Given the description of an element on the screen output the (x, y) to click on. 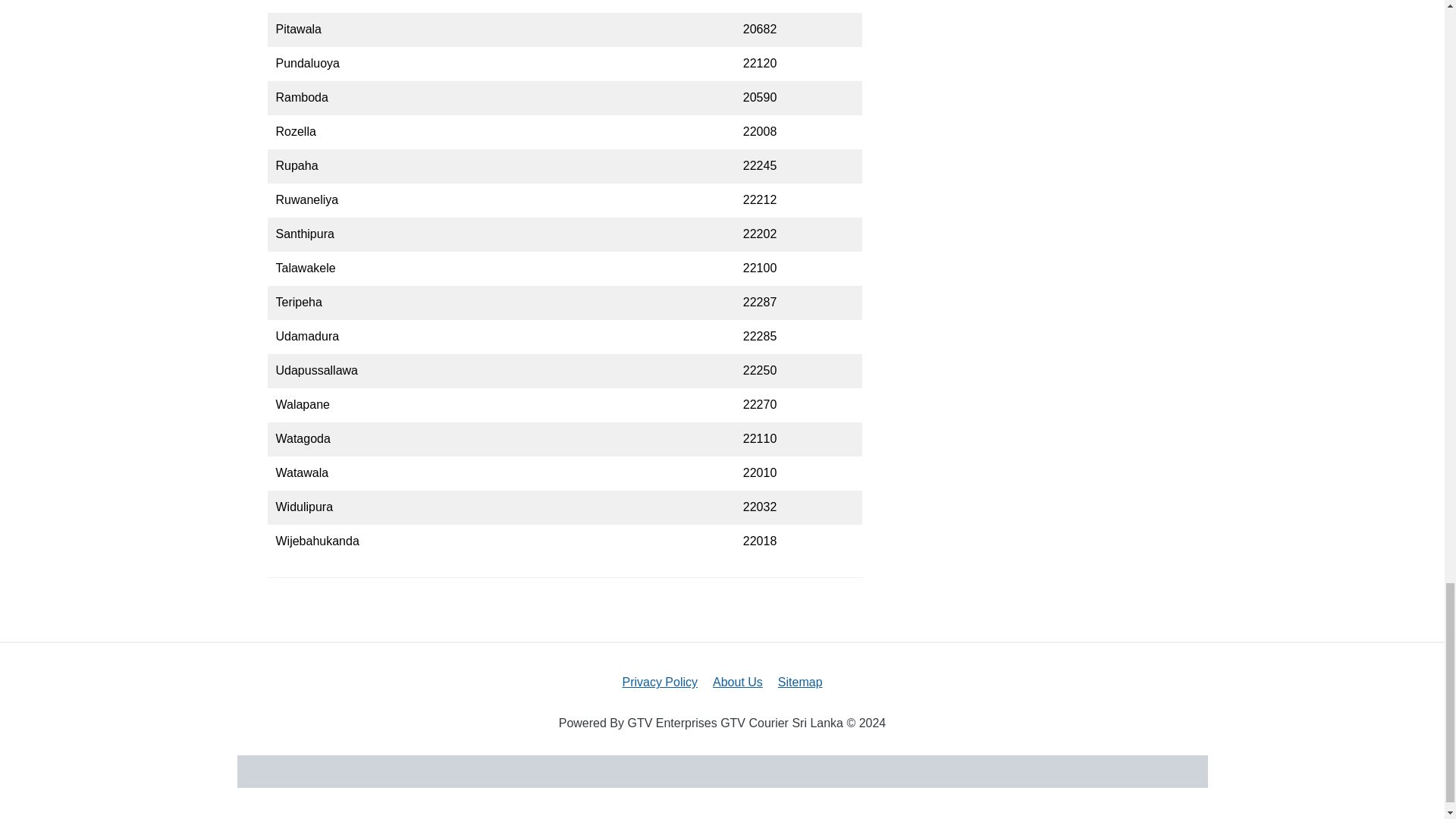
About Us (737, 681)
Privacy Policy (659, 681)
Sitemap (799, 681)
